Given the description of an element on the screen output the (x, y) to click on. 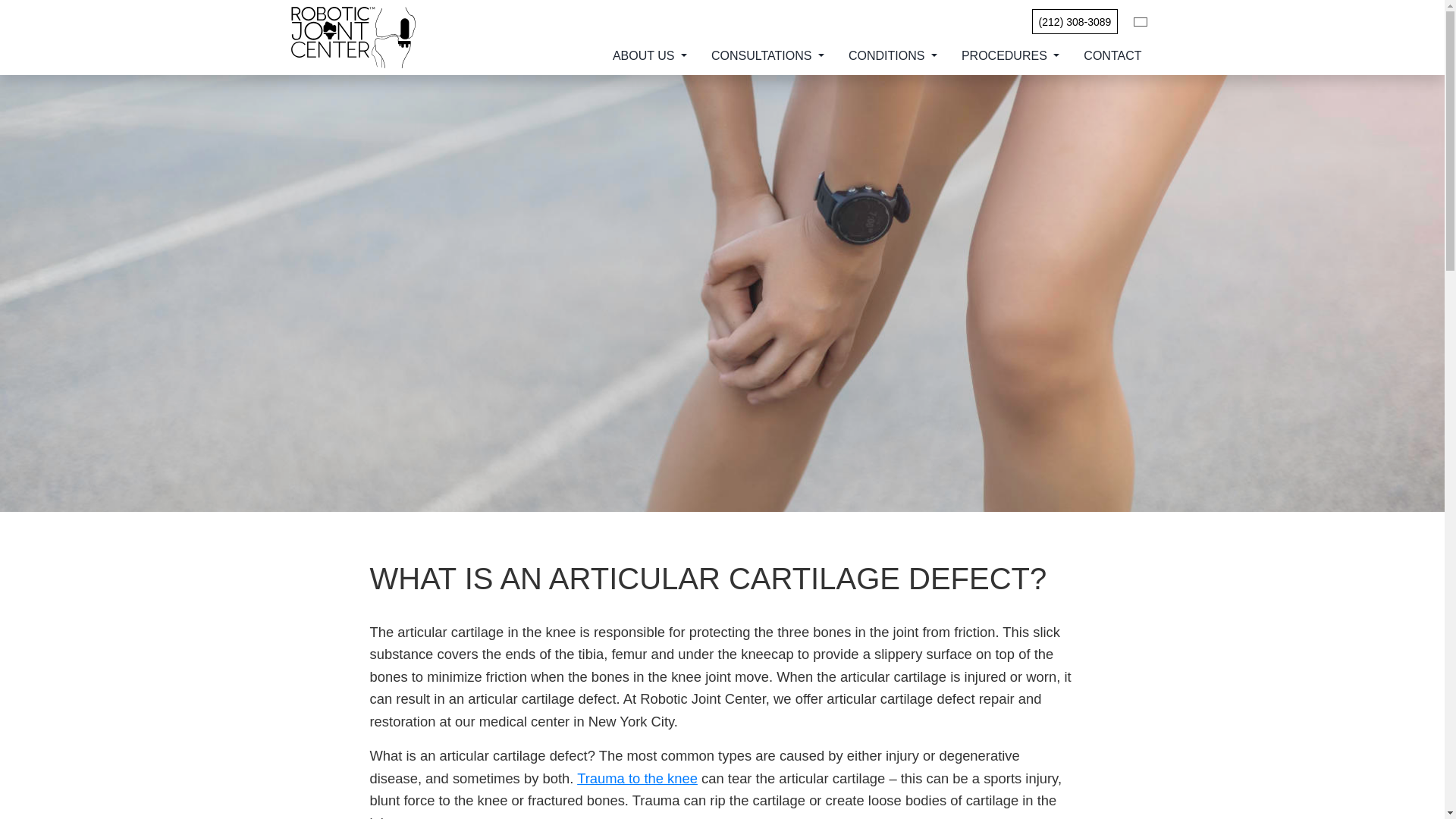
SKIP TO MAIN CONTENT (21, 9)
New York City NY Knee Pain Relief (636, 778)
Switch to high color contrast version of the website (1140, 21)
ABOUT US (648, 56)
CONSULTATIONS (766, 56)
CONDITIONS (892, 56)
